Given the description of an element on the screen output the (x, y) to click on. 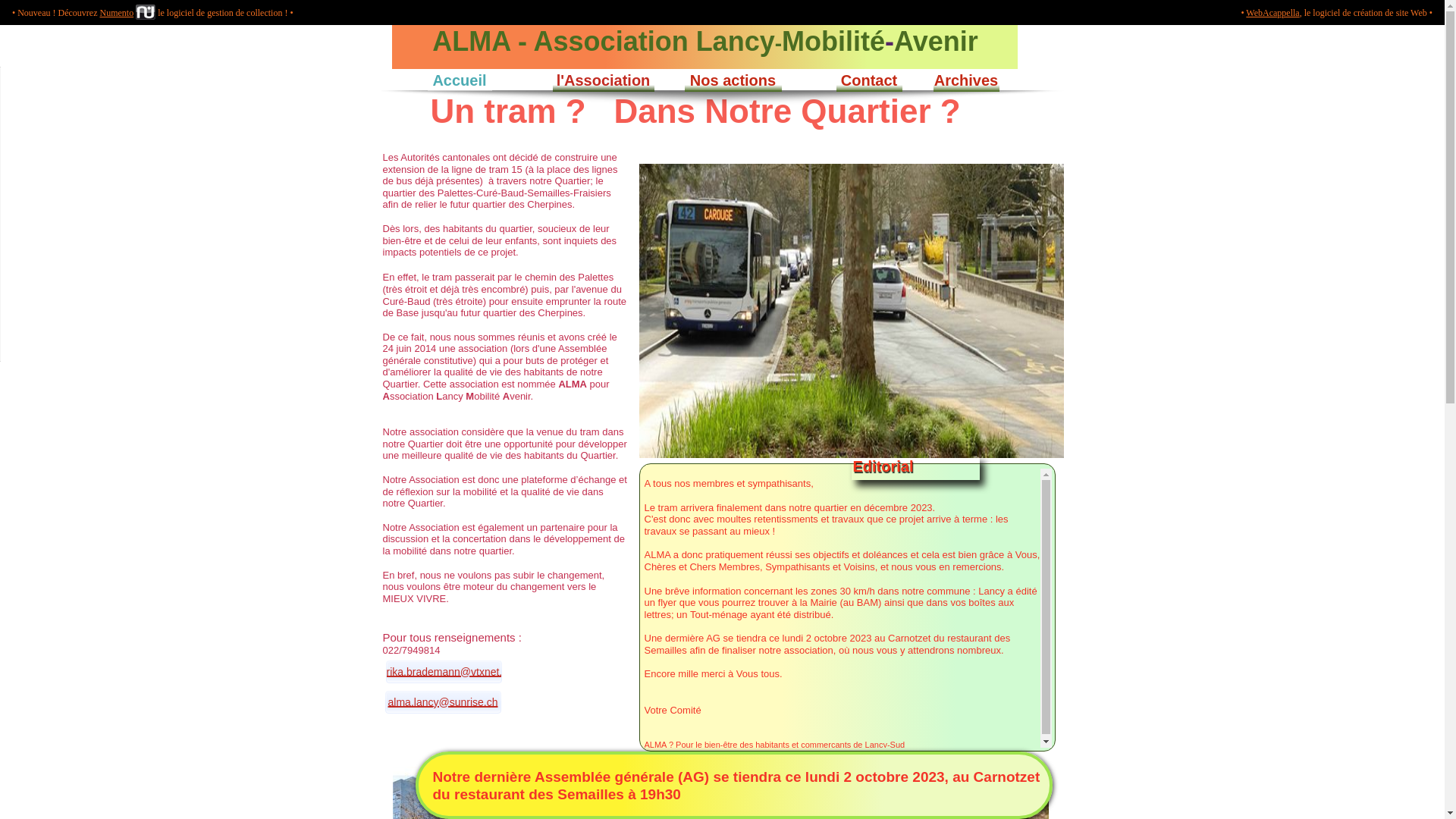
l'Association Element type: text (603, 79)
Accueil Element type: text (459, 79)
Accueil Element type: text (459, 80)
Archives Element type: text (965, 80)
Nos actions Element type: text (732, 80)
Contact Element type: text (868, 79)
Contact Element type: text (868, 80)
alma.lancy@sunrise.ch Element type: text (443, 701)
Archives Element type: text (966, 79)
  Element type: text (381, 30)
alma.lancy@sunrise.ch Element type: text (443, 702)
rika.brademann@vtxnet.ch Element type: text (443, 671)
Nos actions Element type: text (732, 79)
rika.brademann@vtxnet.ch Element type: text (450, 671)
l'Association Element type: text (602, 80)
